Given the description of an element on the screen output the (x, y) to click on. 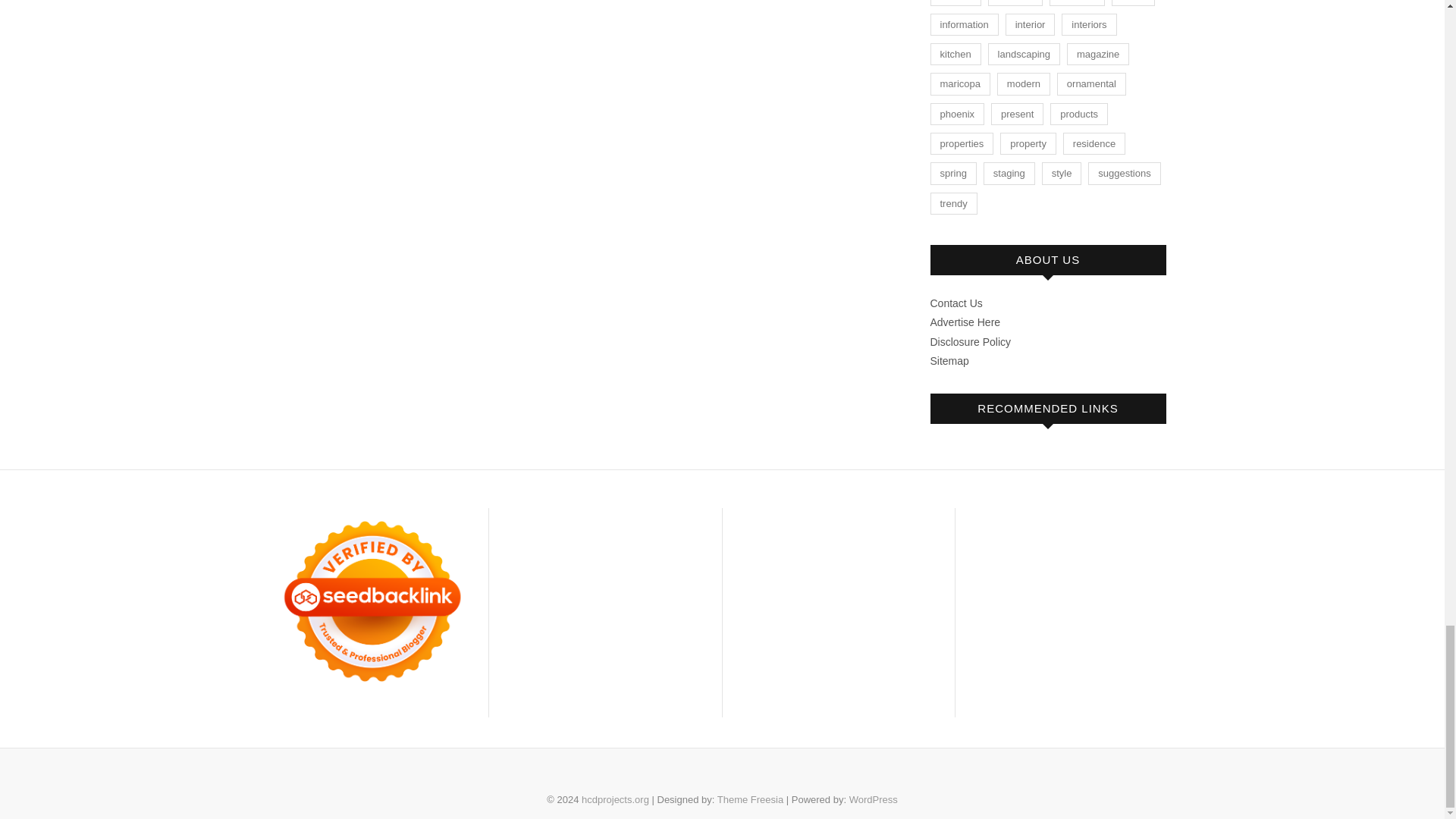
hcdprojects.org (614, 799)
Seedbacklink (372, 600)
Theme Freesia (750, 799)
WordPress (873, 799)
